Given the description of an element on the screen output the (x, y) to click on. 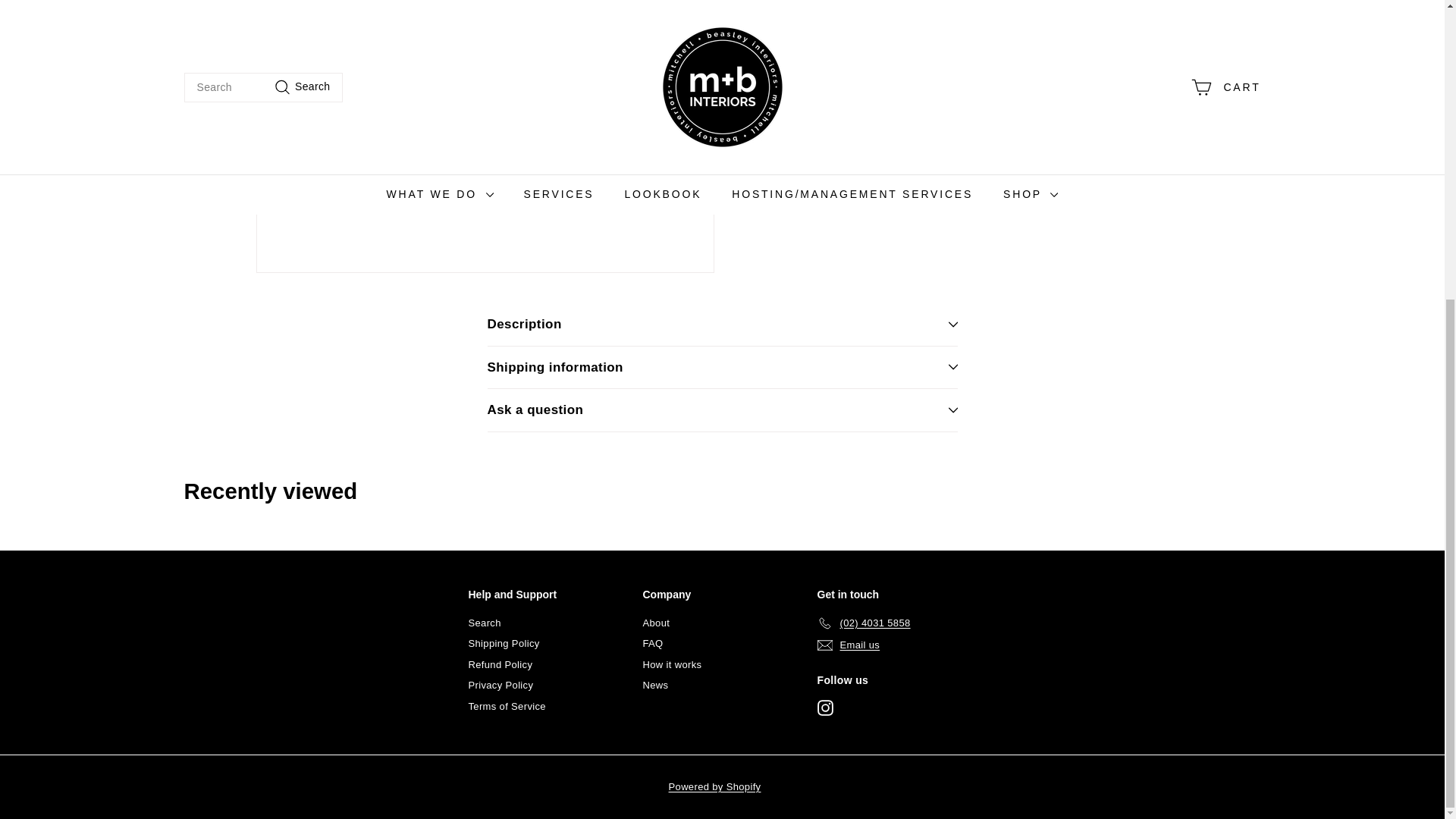
instagram (824, 707)
